Given the description of an element on the screen output the (x, y) to click on. 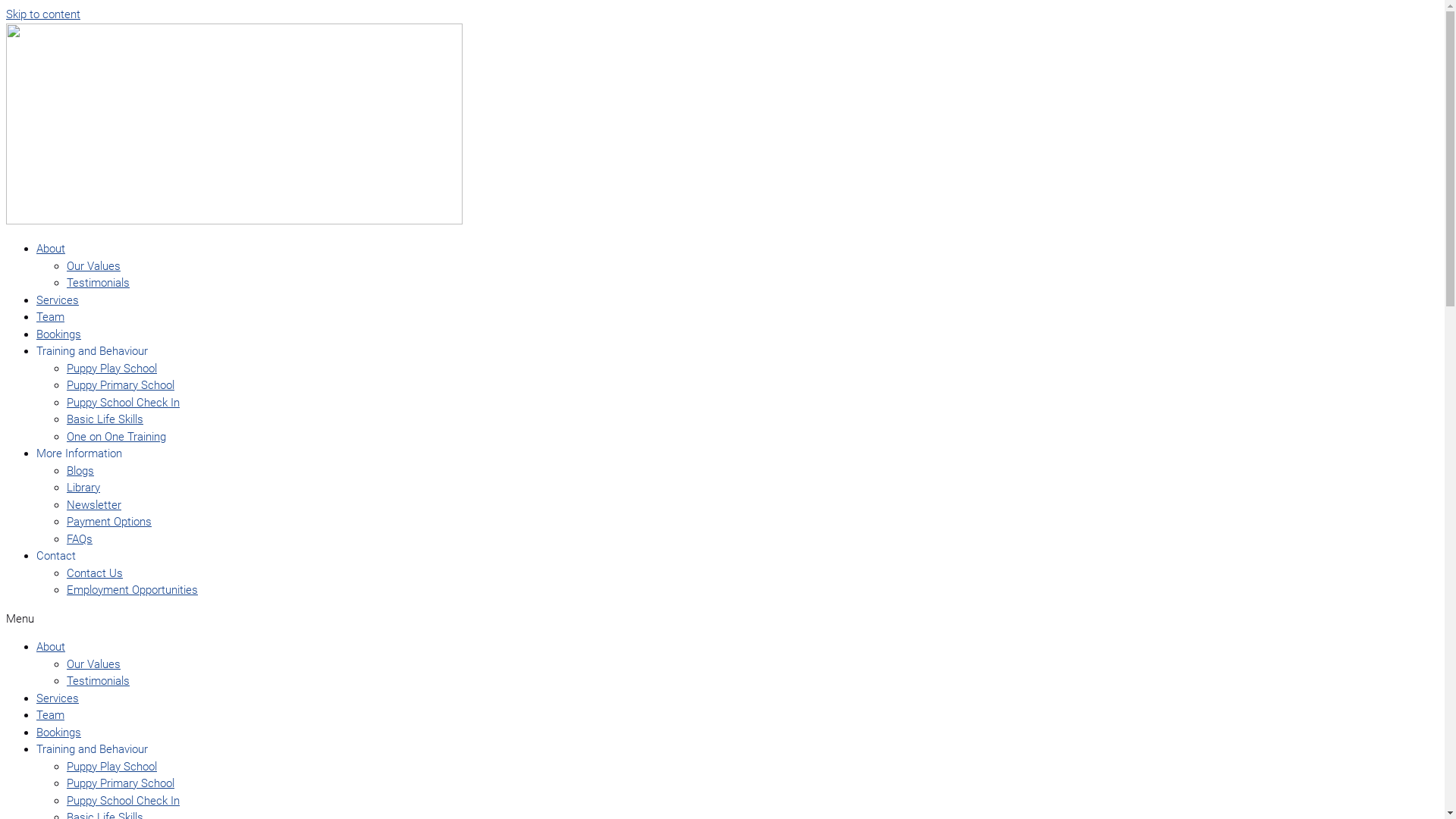
Team Element type: text (50, 316)
One on One Training Element type: text (116, 435)
Training and Behaviour Element type: text (91, 749)
Team Element type: text (50, 714)
Our Values Element type: text (93, 266)
Payment Options Element type: text (108, 521)
Puppy School Check In Element type: text (122, 799)
Training and Behaviour Element type: text (91, 350)
Puppy Primary School Element type: text (120, 385)
Skip to content Element type: text (43, 14)
Services Element type: text (57, 299)
Bookings Element type: text (58, 731)
Testimonials Element type: text (97, 680)
Puppy Primary School Element type: text (120, 783)
Newsletter Element type: text (93, 504)
Our Values Element type: text (93, 663)
Testimonials Element type: text (97, 282)
Puppy Play School Element type: text (111, 766)
About Element type: text (50, 646)
Puppy School Check In Element type: text (122, 402)
Services Element type: text (57, 698)
Basic Life Skills Element type: text (104, 419)
Blogs Element type: text (80, 470)
Contact Element type: text (55, 555)
Contact Us Element type: text (94, 572)
About Element type: text (50, 248)
Bookings Element type: text (58, 334)
More Information Element type: text (79, 453)
Puppy Play School Element type: text (111, 367)
FAQs Element type: text (79, 539)
Employment Opportunities Element type: text (131, 589)
Library Element type: text (83, 487)
